Given the description of an element on the screen output the (x, y) to click on. 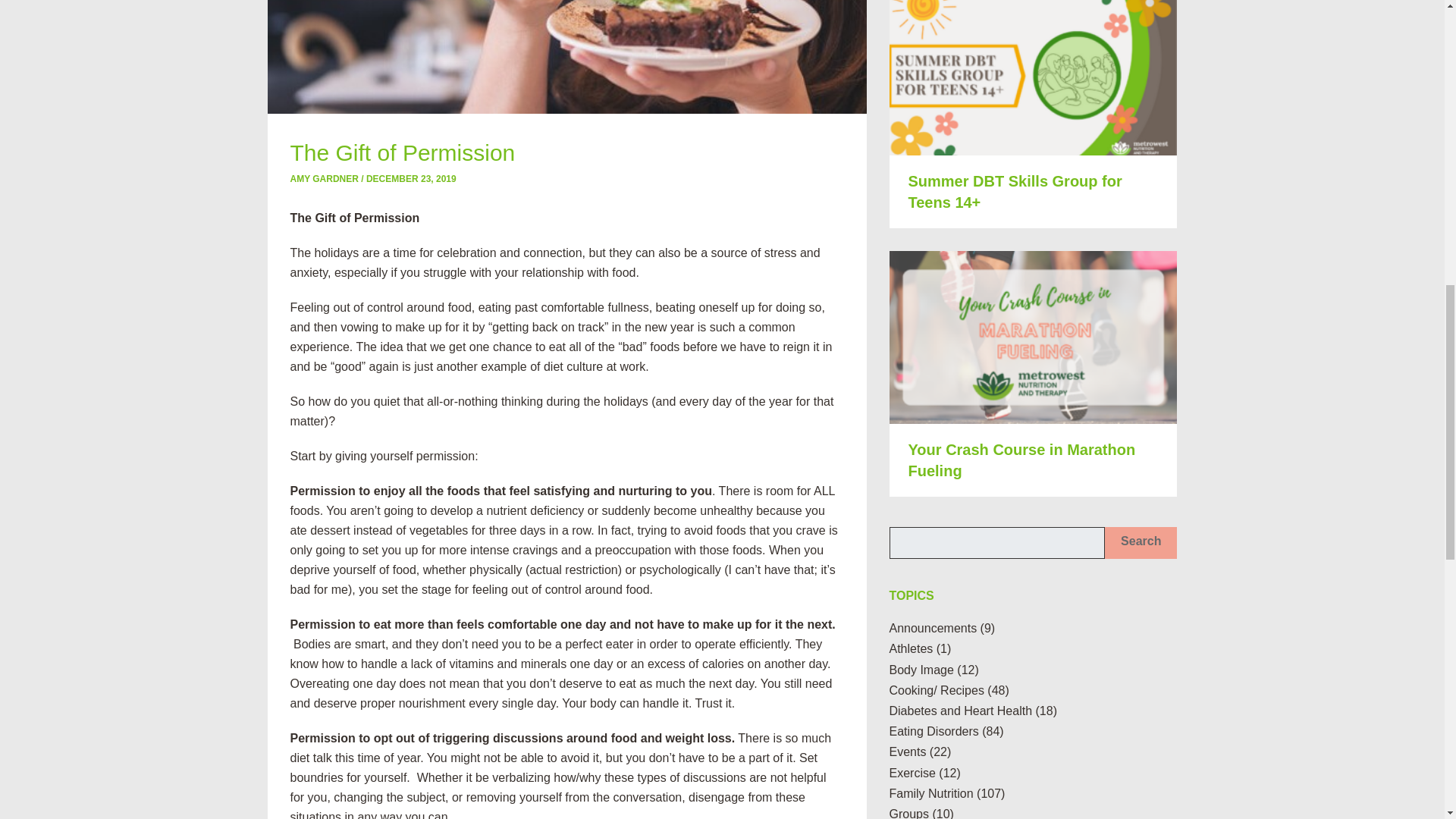
Events (907, 751)
Athletes (910, 648)
Search (1140, 543)
Body Image (920, 669)
Your Crash Course in Marathon Fueling (1021, 460)
Eating Disorders (933, 730)
Exercise (911, 772)
Diabetes and Heart Health (960, 710)
Announcements (932, 627)
